Given the description of an element on the screen output the (x, y) to click on. 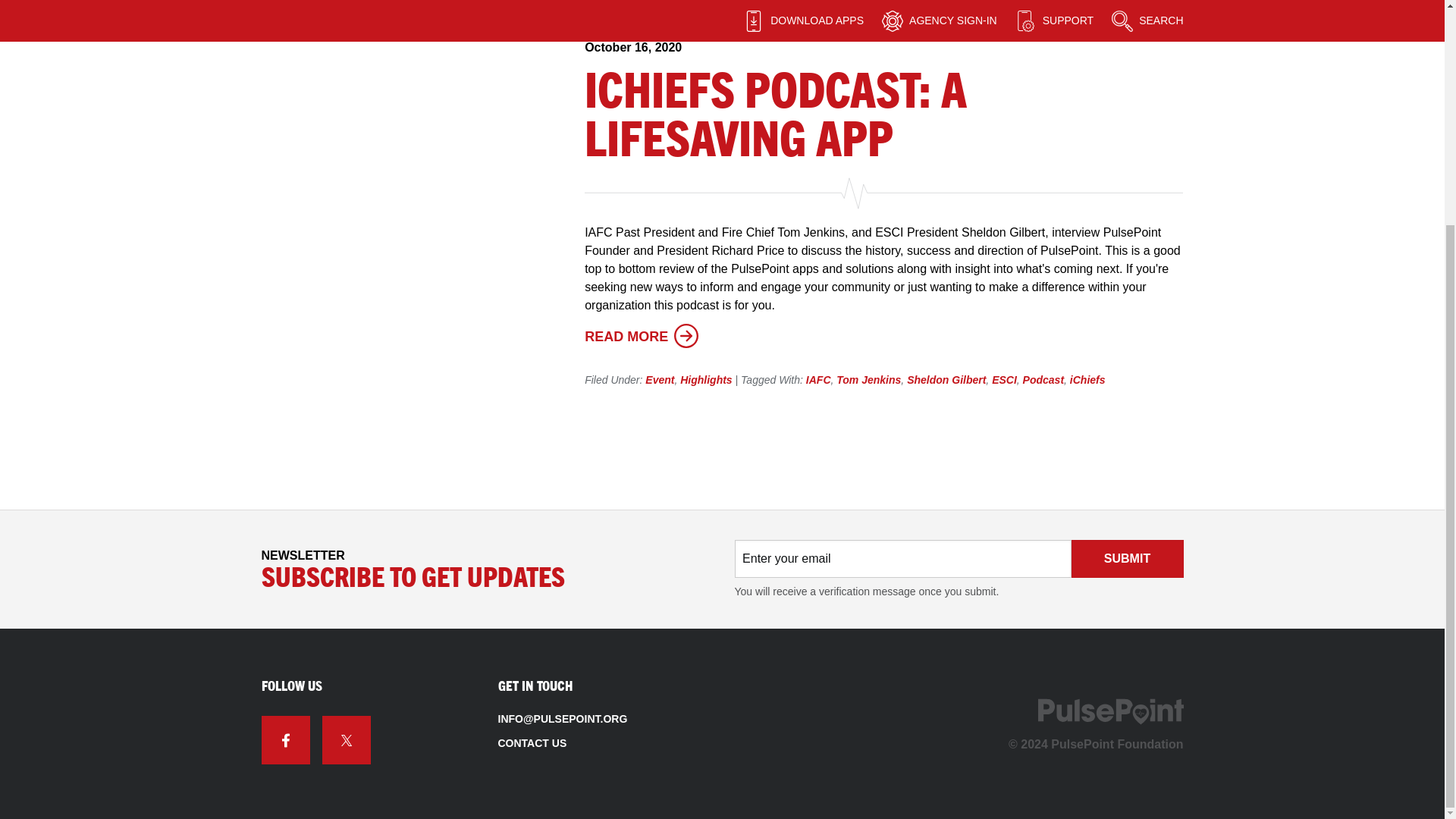
Submit (1126, 558)
